Given the description of an element on the screen output the (x, y) to click on. 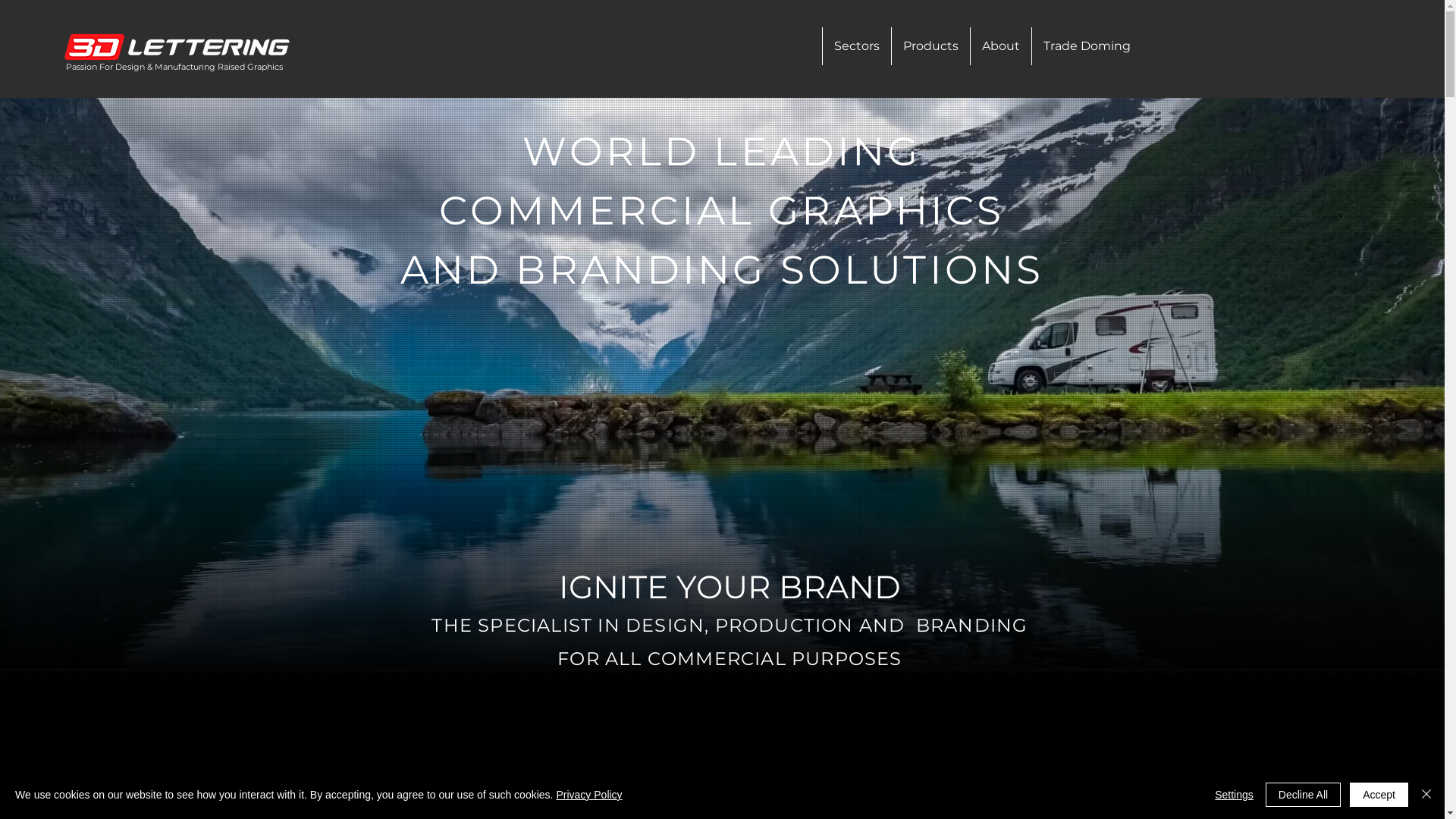
Privacy Policy Element type: text (588, 794)
Trade Doming Element type: text (1086, 46)
Decline All Element type: text (1302, 794)
About Element type: text (1000, 46)
Products Element type: text (930, 46)
Sectors Element type: text (856, 46)
Accept Element type: text (1378, 794)
